Given the description of an element on the screen output the (x, y) to click on. 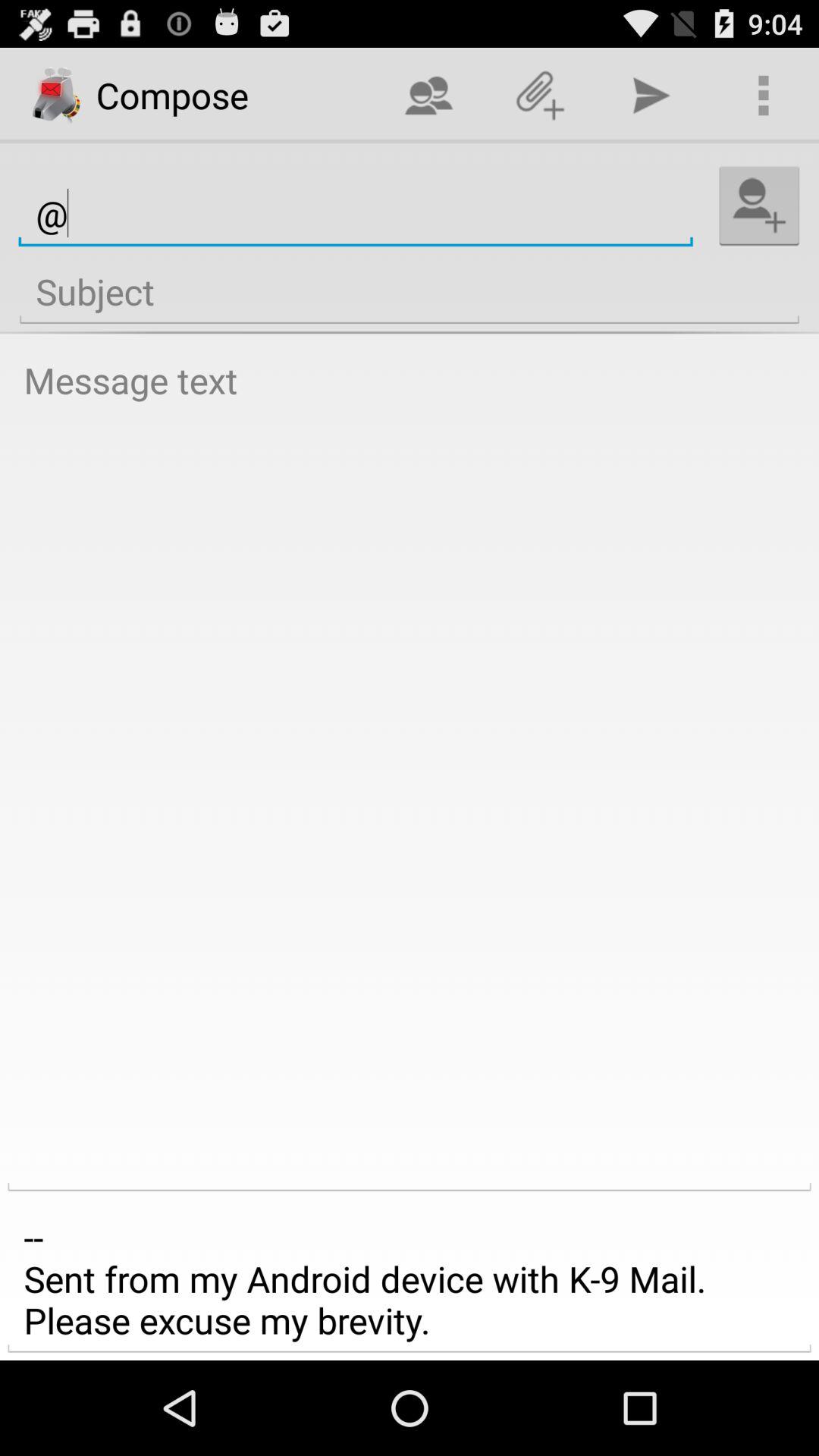
enter subject line (409, 292)
